Given the description of an element on the screen output the (x, y) to click on. 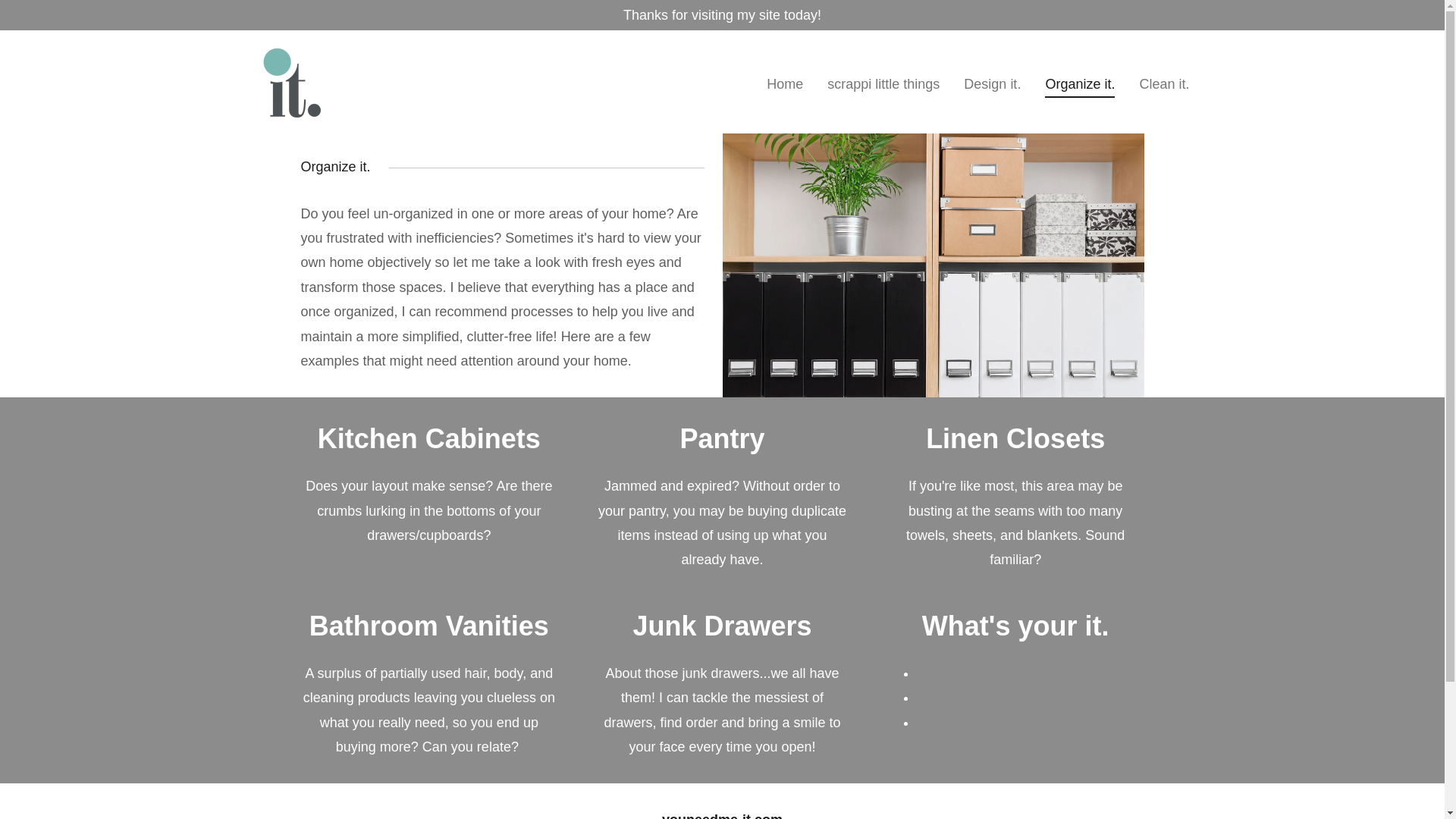
scrappi little things (882, 83)
Clean it. (1163, 83)
Design it. (992, 83)
youneedme-it.com (287, 80)
Home (784, 83)
Organize it. (1080, 86)
